Given the description of an element on the screen output the (x, y) to click on. 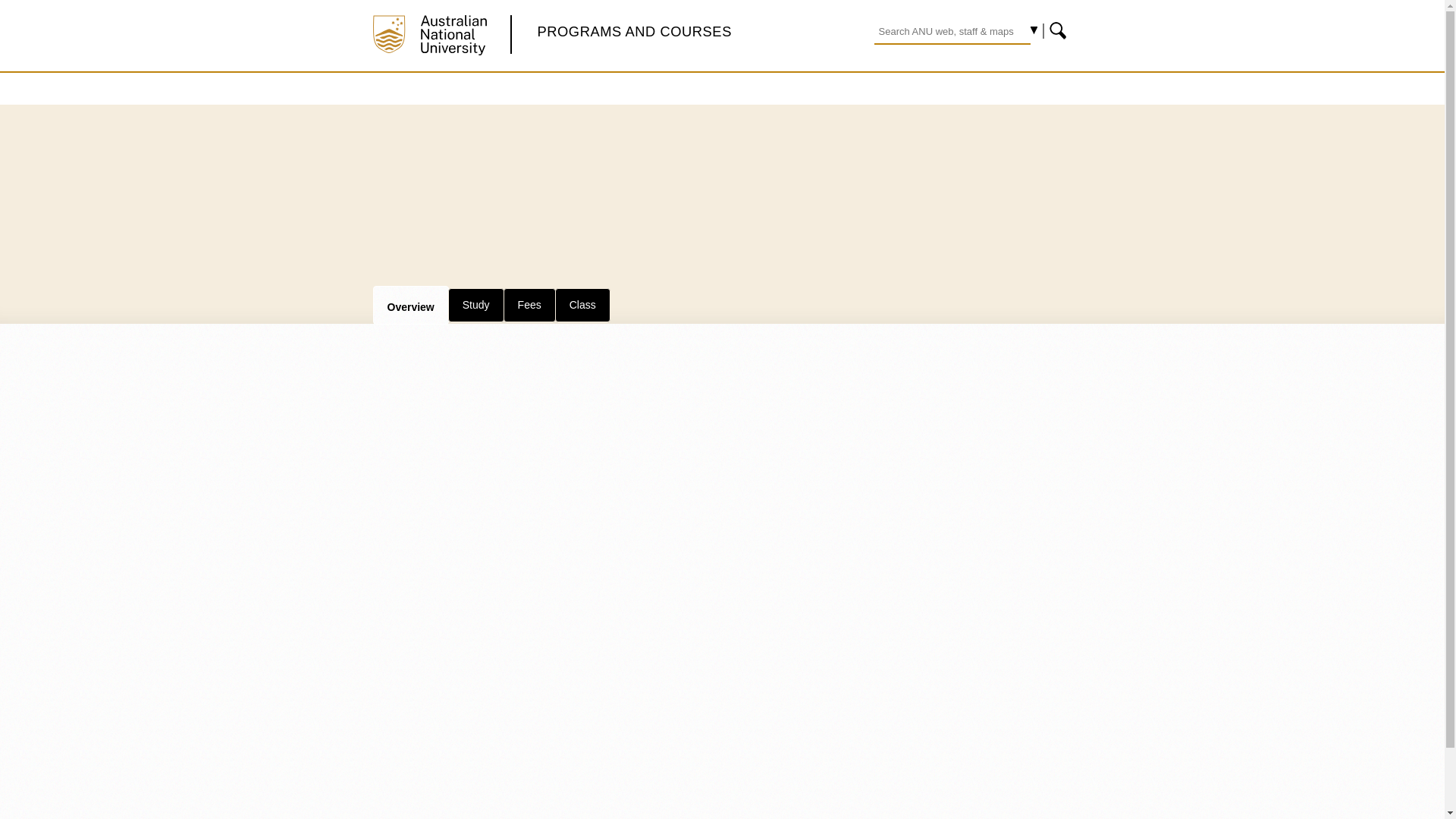
Go (1059, 30)
PROGRAMS AND COURSES (633, 31)
Study (475, 304)
Class (582, 304)
Fees (529, 304)
Overview (410, 304)
